Given the description of an element on the screen output the (x, y) to click on. 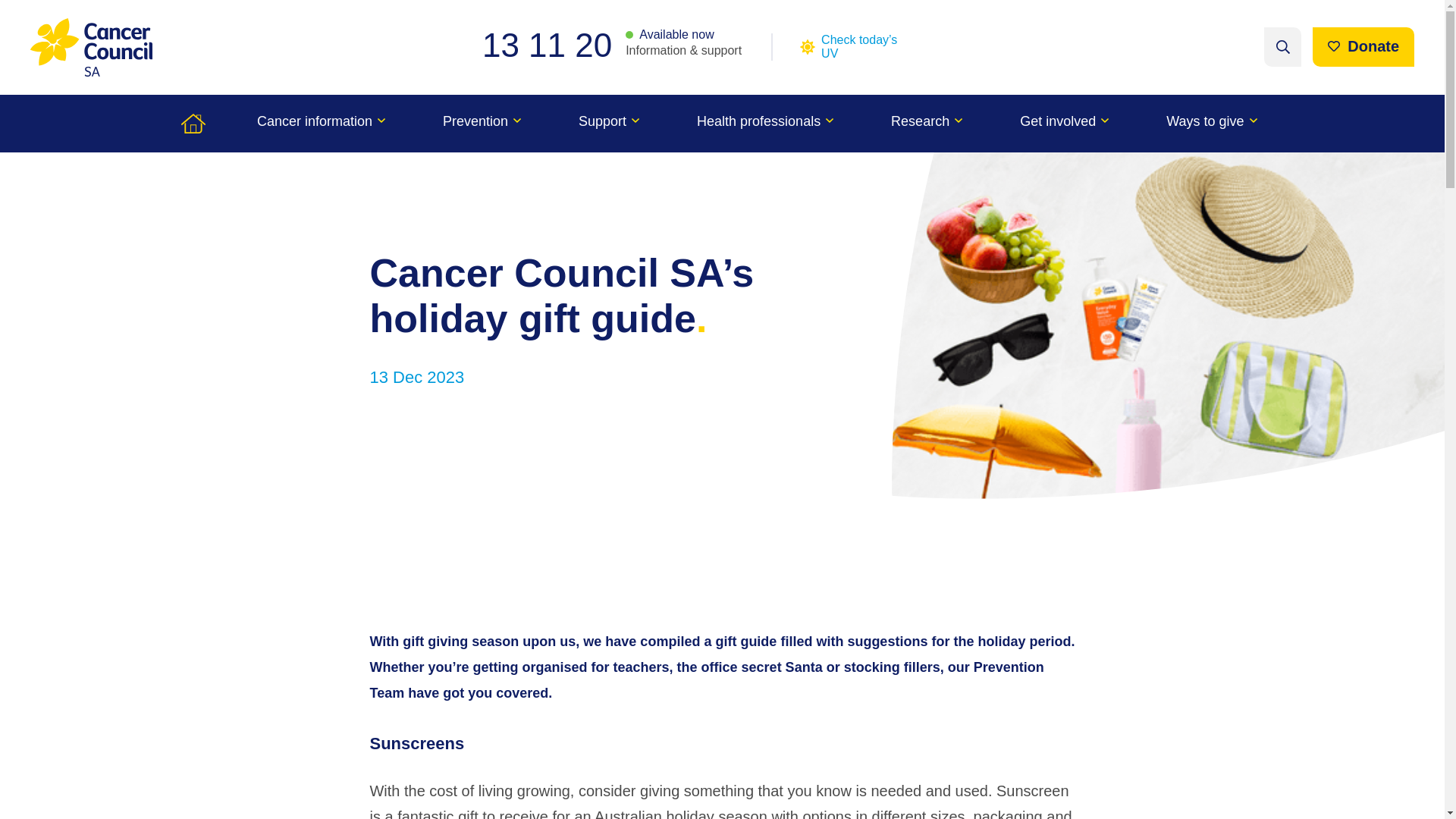
Prevention (481, 123)
13 11 20 (553, 44)
Support (609, 123)
Donate (1363, 46)
Available now (670, 34)
Cancer information (320, 123)
